Given the description of an element on the screen output the (x, y) to click on. 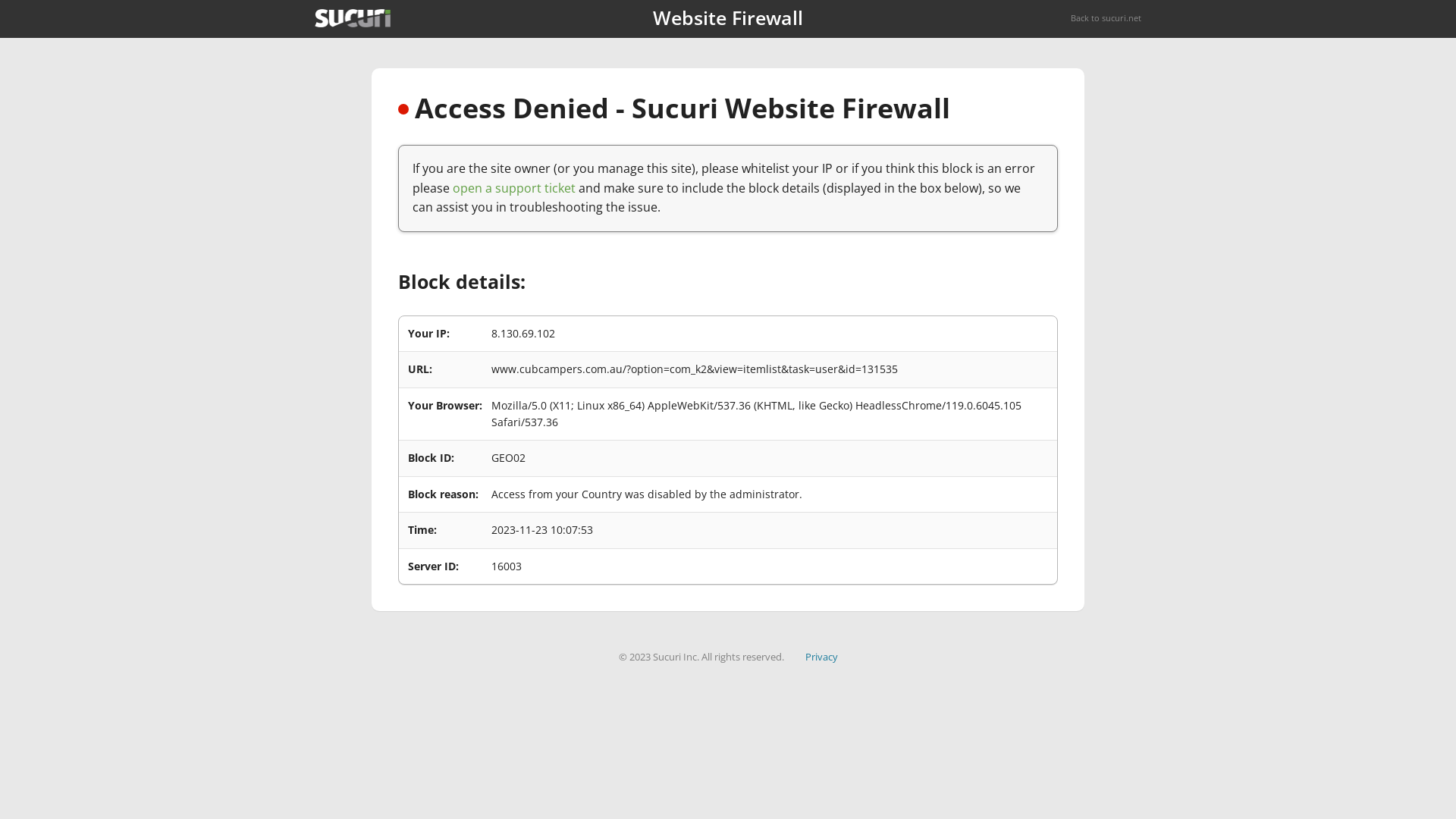
Privacy Element type: text (821, 656)
Back to sucuri.net Element type: text (1105, 18)
open a support ticket Element type: text (513, 187)
